Given the description of an element on the screen output the (x, y) to click on. 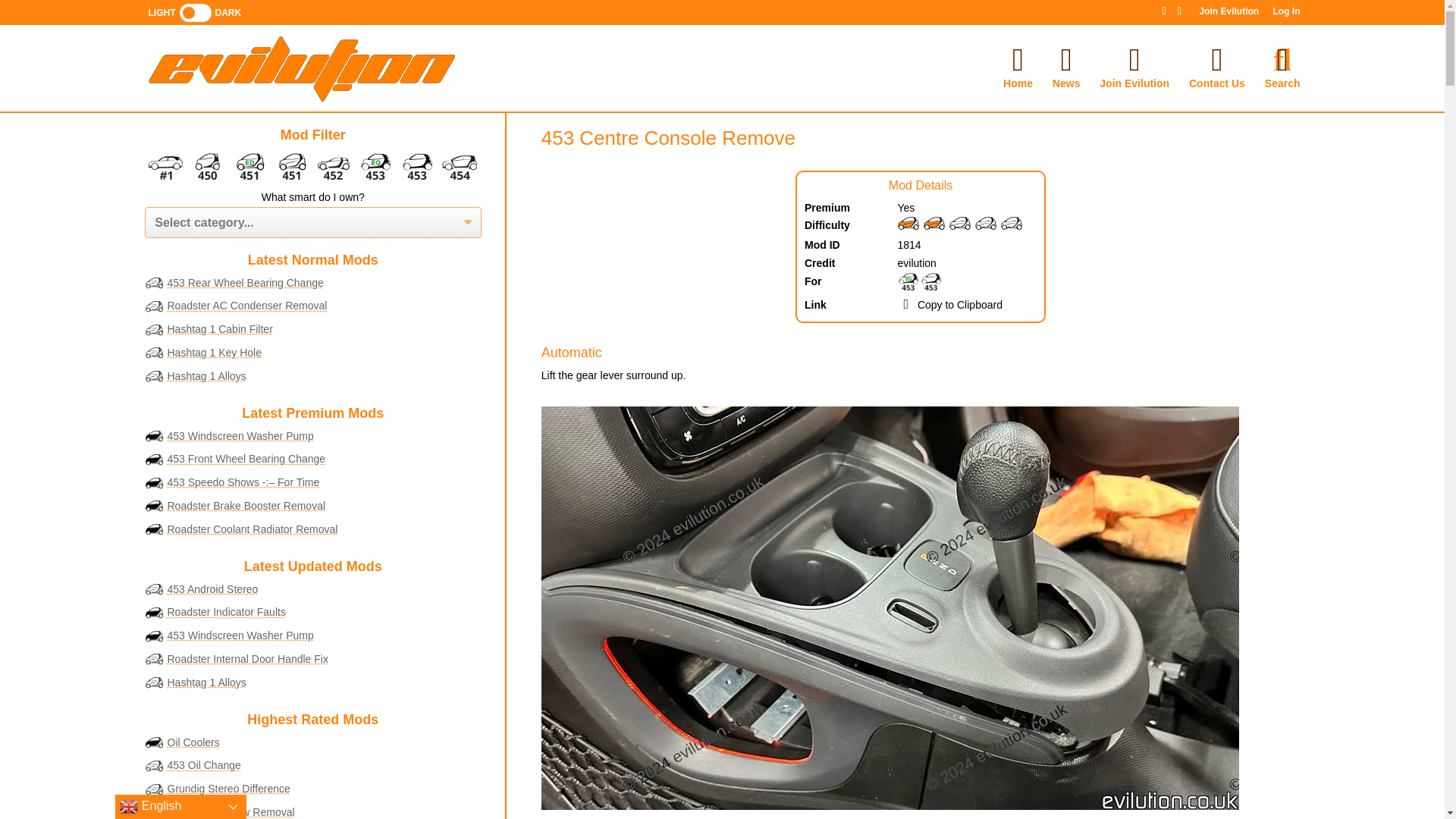
Join Evilution (1134, 101)
Hashtag 1 Alloys (206, 682)
Contact Us (1216, 101)
Oil Coolers (193, 742)
453 Oil Change (203, 765)
453 Rear Wheel Bearing Change (245, 282)
451 ED (249, 166)
Roadster Indicator Faults (226, 612)
Log In (1286, 14)
453 Windscreen Washer Pump (240, 435)
News (1066, 101)
Search (1282, 101)
Hashtag 1 Key Hole (214, 352)
Join Evilution (1228, 14)
Hashtag 1 Cabin Filter (219, 328)
